Given the description of an element on the screen output the (x, y) to click on. 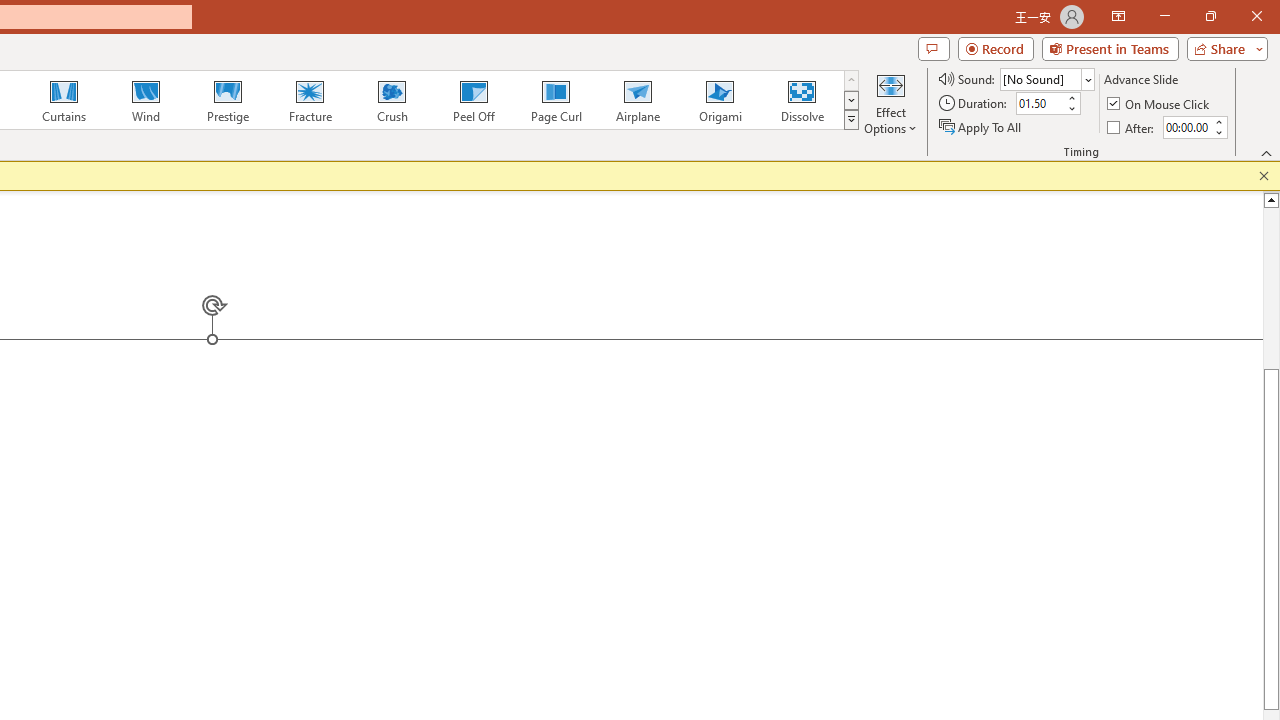
Duration (1039, 103)
Transition Effects (850, 120)
Peel Off (473, 100)
Page Curl (555, 100)
On Mouse Click (1159, 103)
Crush (391, 100)
Close this message (1263, 176)
Origami (719, 100)
